Given the description of an element on the screen output the (x, y) to click on. 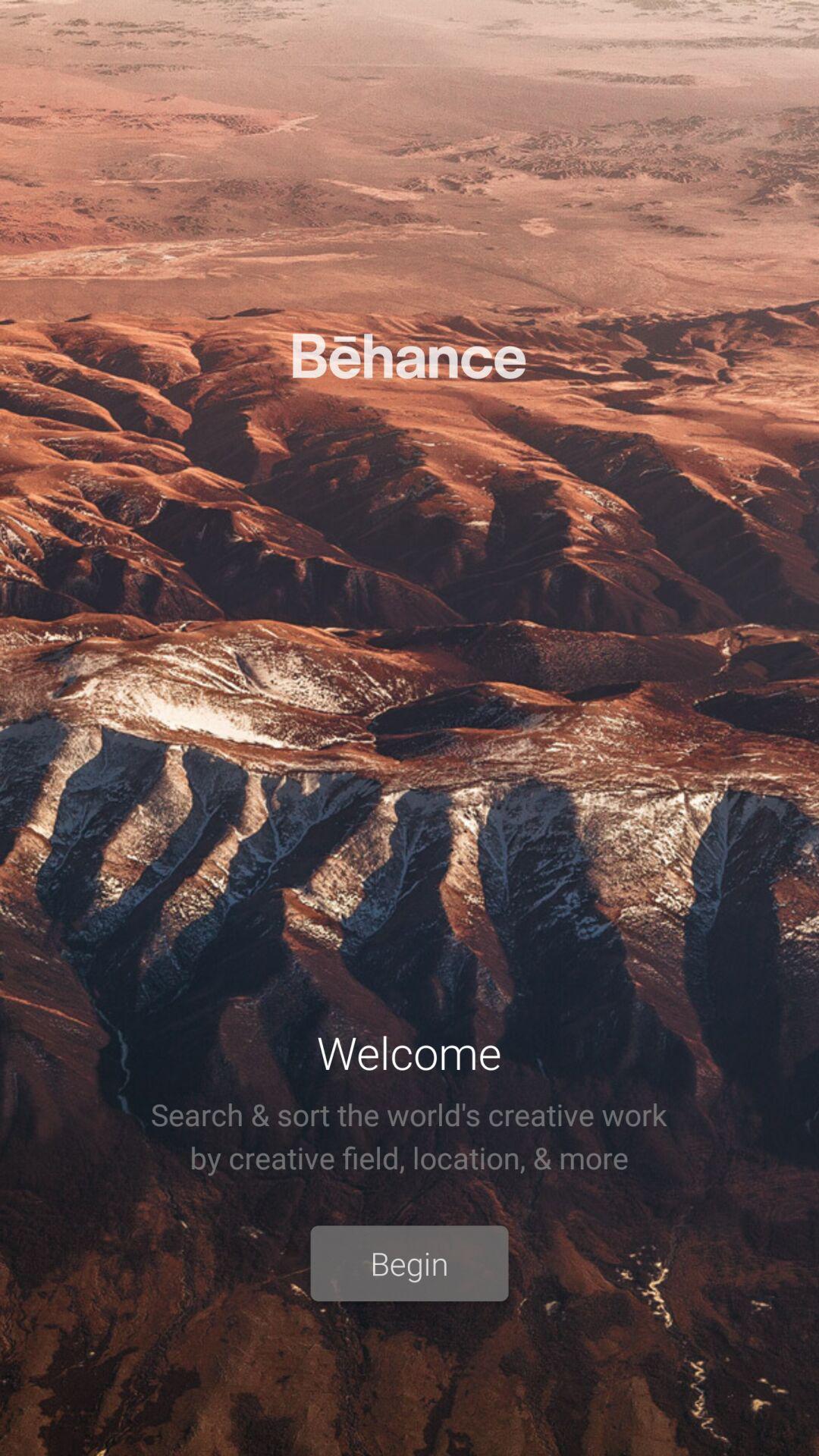
tap icon below search sort the icon (409, 1263)
